Given the description of an element on the screen output the (x, y) to click on. 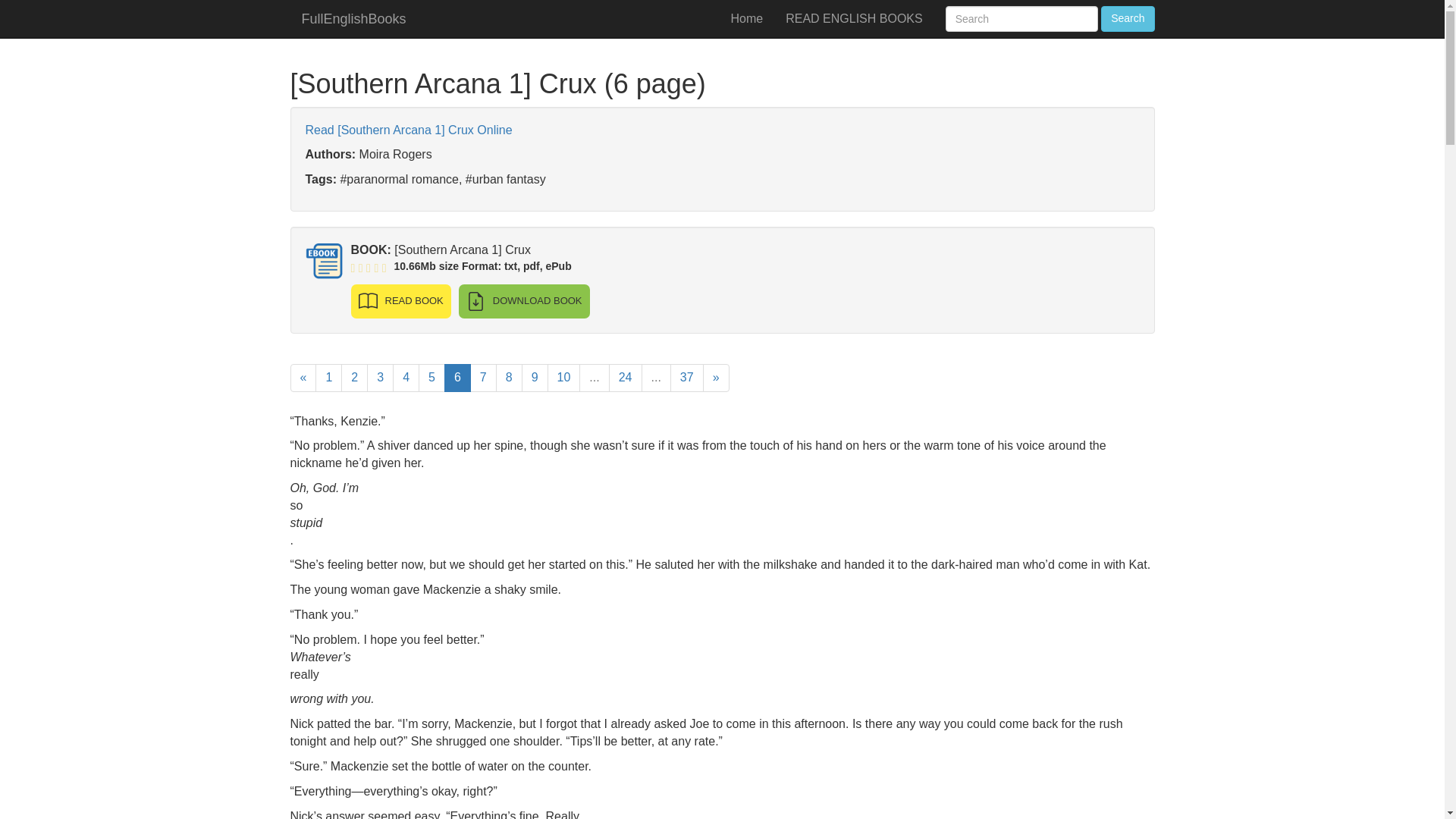
2 (354, 377)
Home (746, 18)
READ ENGLISH BOOKS (854, 18)
24 (625, 377)
8 (509, 377)
7 (483, 377)
READ BOOK (399, 301)
10 (563, 377)
DOWNLOAD BOOK (523, 301)
4 (406, 377)
